Given the description of an element on the screen output the (x, y) to click on. 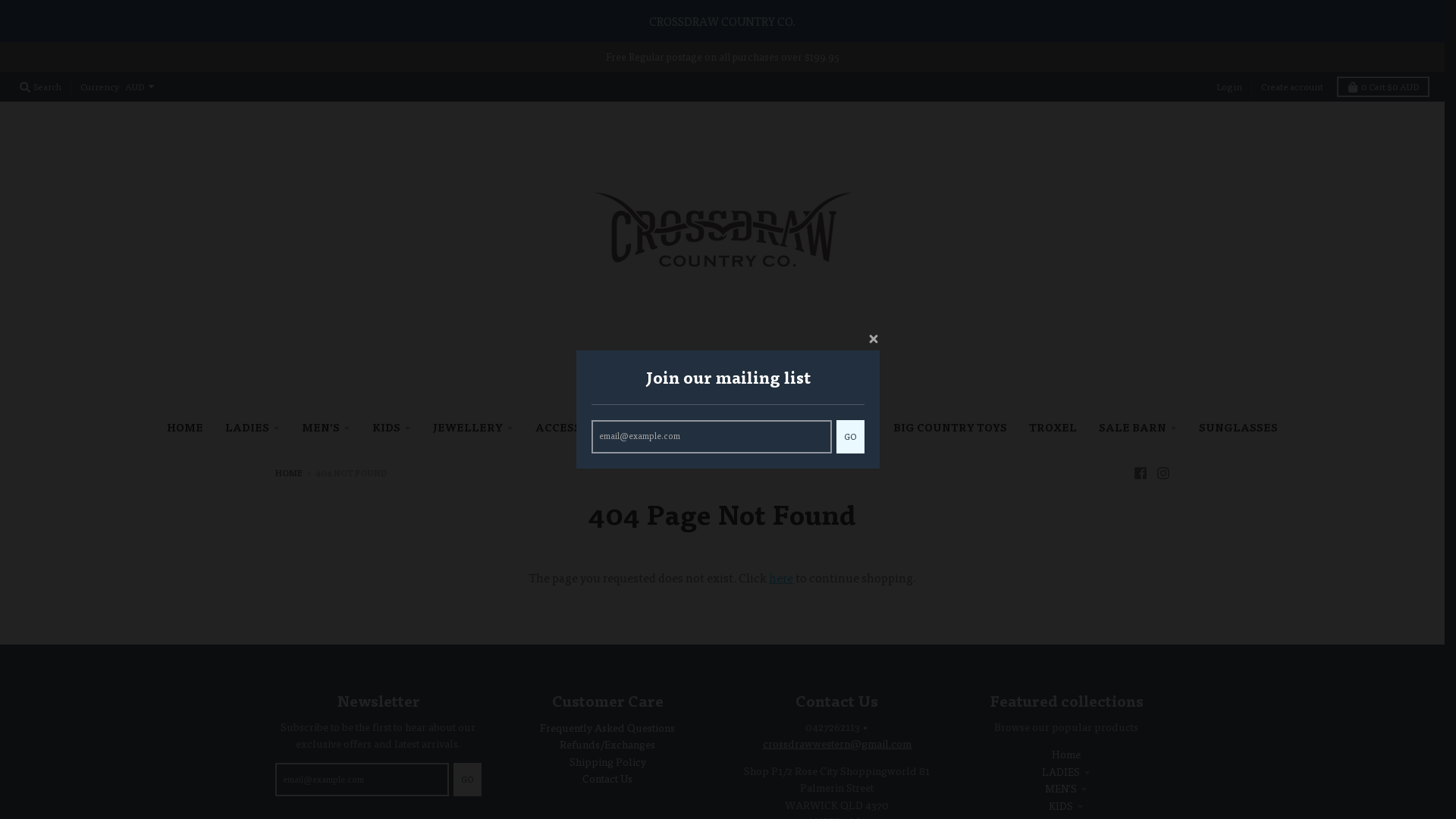
CURVY CHICS Element type: text (733, 427)
0 Cart $0 AUD Element type: text (1382, 86)
HOME Element type: text (184, 427)
crossdrawwestern@gmail.com Element type: text (836, 743)
GO Element type: text (467, 779)
Frequently Asked Questions Element type: text (606, 727)
Log in Element type: text (1228, 86)
ACCESSORIES/GIFTS Element type: text (601, 427)
GIFT CARDS Element type: text (835, 427)
Contact Us Element type: text (607, 778)
Create account Element type: text (1291, 86)
JEWELLERY Element type: text (473, 427)
HOME Element type: text (287, 472)
Shipping Policy Element type: text (607, 761)
Home Element type: text (1065, 753)
LADIES Element type: text (252, 427)
KIDS Element type: text (1065, 805)
Search Element type: text (40, 86)
SALE BARN Element type: text (1137, 427)
MEN'S Element type: text (1065, 788)
Facebook - Crossdraw Country Co. Element type: hover (1139, 472)
here Element type: text (780, 577)
KIDS Element type: text (391, 427)
Instagram - Crossdraw Country Co. Element type: hover (1162, 472)
GO Element type: text (850, 436)
BIG COUNTRY TOYS Element type: text (949, 427)
LADIES Element type: text (1065, 771)
TROXEL Element type: text (1052, 427)
SUNGLASSES Element type: text (1238, 427)
Refunds/Exchanges Element type: text (607, 744)
MEN'S Element type: text (325, 427)
